Given the description of an element on the screen output the (x, y) to click on. 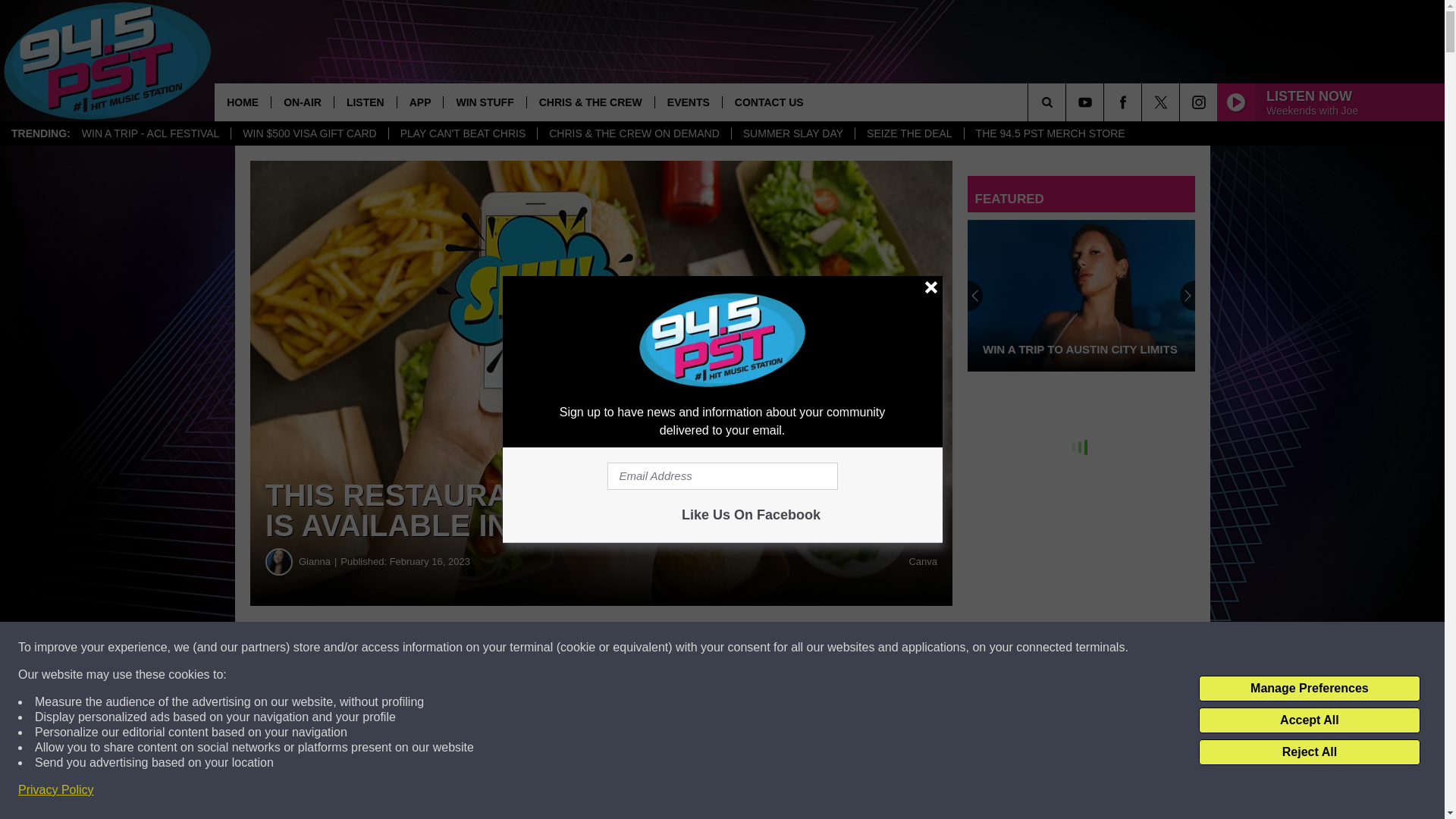
WIN STUFF (483, 102)
HOME (242, 102)
Reject All (1309, 751)
Email Address (722, 475)
LISTEN (364, 102)
SEARCH (1068, 102)
Accept All (1309, 720)
ON-AIR (301, 102)
Share on Facebook (413, 647)
PLAY CAN'T BEAT CHRIS (462, 133)
THE 94.5 PST MERCH STORE (1050, 133)
Print this page (787, 647)
SUMMER SLAY DAY (792, 133)
Share on Twitter (600, 647)
WIN A TRIP - ACL FESTIVAL (150, 133)
